Given the description of an element on the screen output the (x, y) to click on. 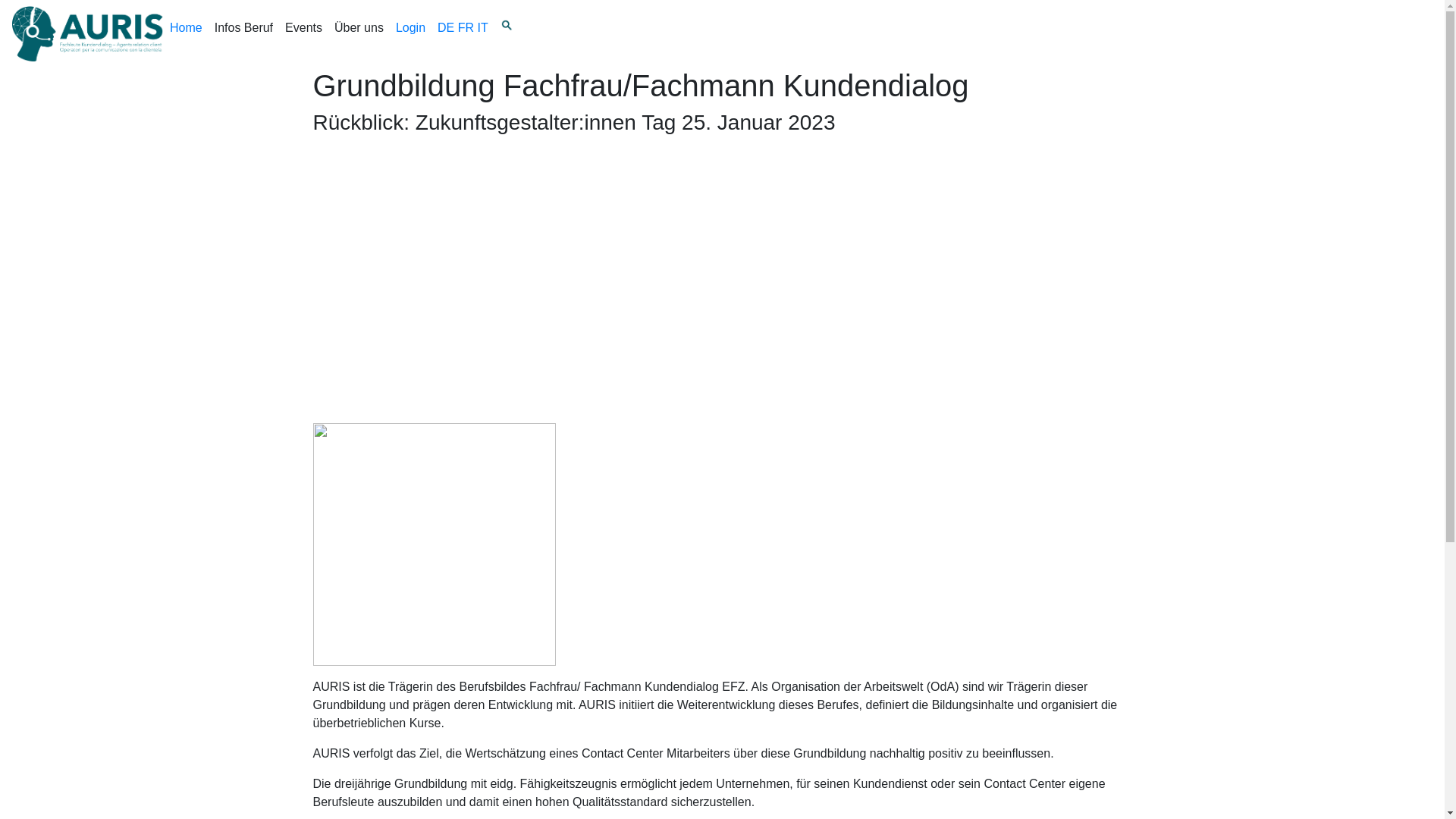
Home Element type: text (185, 27)
FR Element type: text (465, 27)
YouTube video player Element type: hover (524, 260)
DE Element type: text (445, 27)
IT Element type: text (482, 27)
Login Element type: text (410, 33)
